Given the description of an element on the screen output the (x, y) to click on. 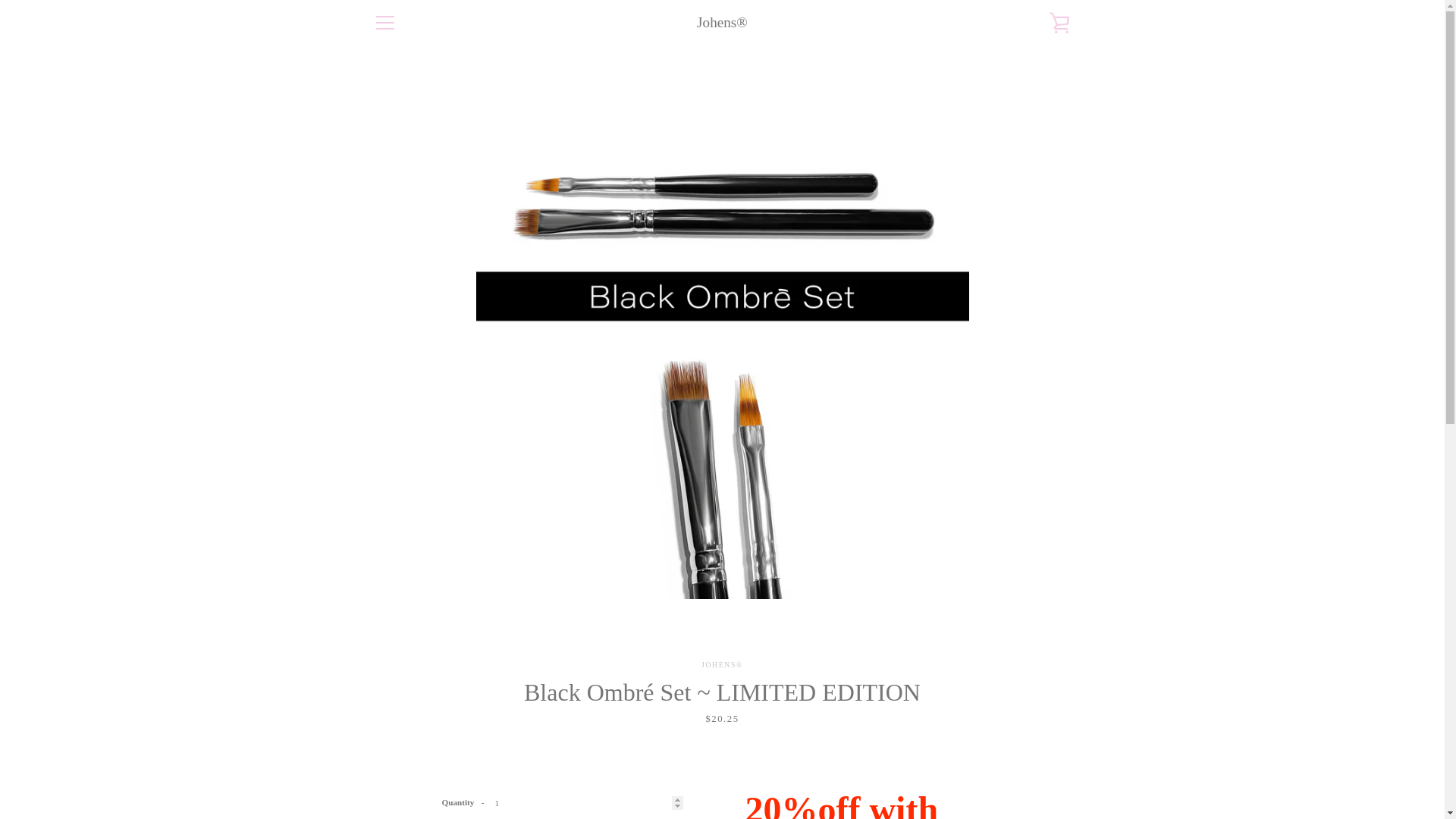
VIEW CART (1059, 22)
EXPAND NAVIGATION (384, 22)
Ok (1041, 617)
1 (562, 803)
